Given the description of an element on the screen output the (x, y) to click on. 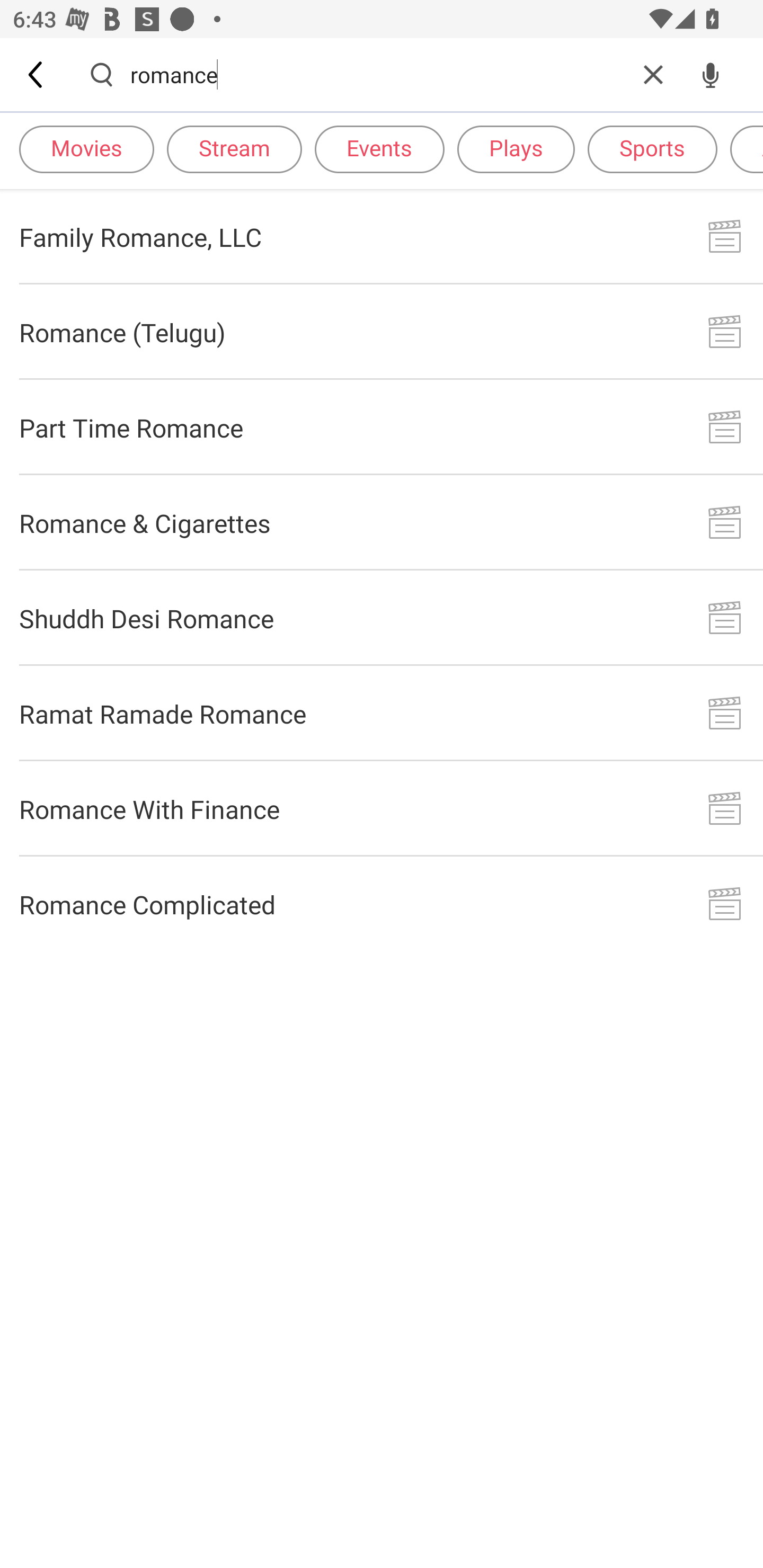
Back (36, 74)
romance (377, 74)
Clear (653, 74)
Movies (86, 148)
Stream (234, 148)
Events (379, 148)
Plays (515, 148)
Sports (652, 148)
Family Romance, LLC (381, 236)
Romance (Telugu) (381, 331)
Part Time Romance (381, 427)
Romance & Cigarettes (381, 522)
Shuddh Desi Romance (381, 618)
Ramat Ramade Romance (381, 713)
Romance With Finance (381, 808)
Romance Complicated (381, 903)
